Given the description of an element on the screen output the (x, y) to click on. 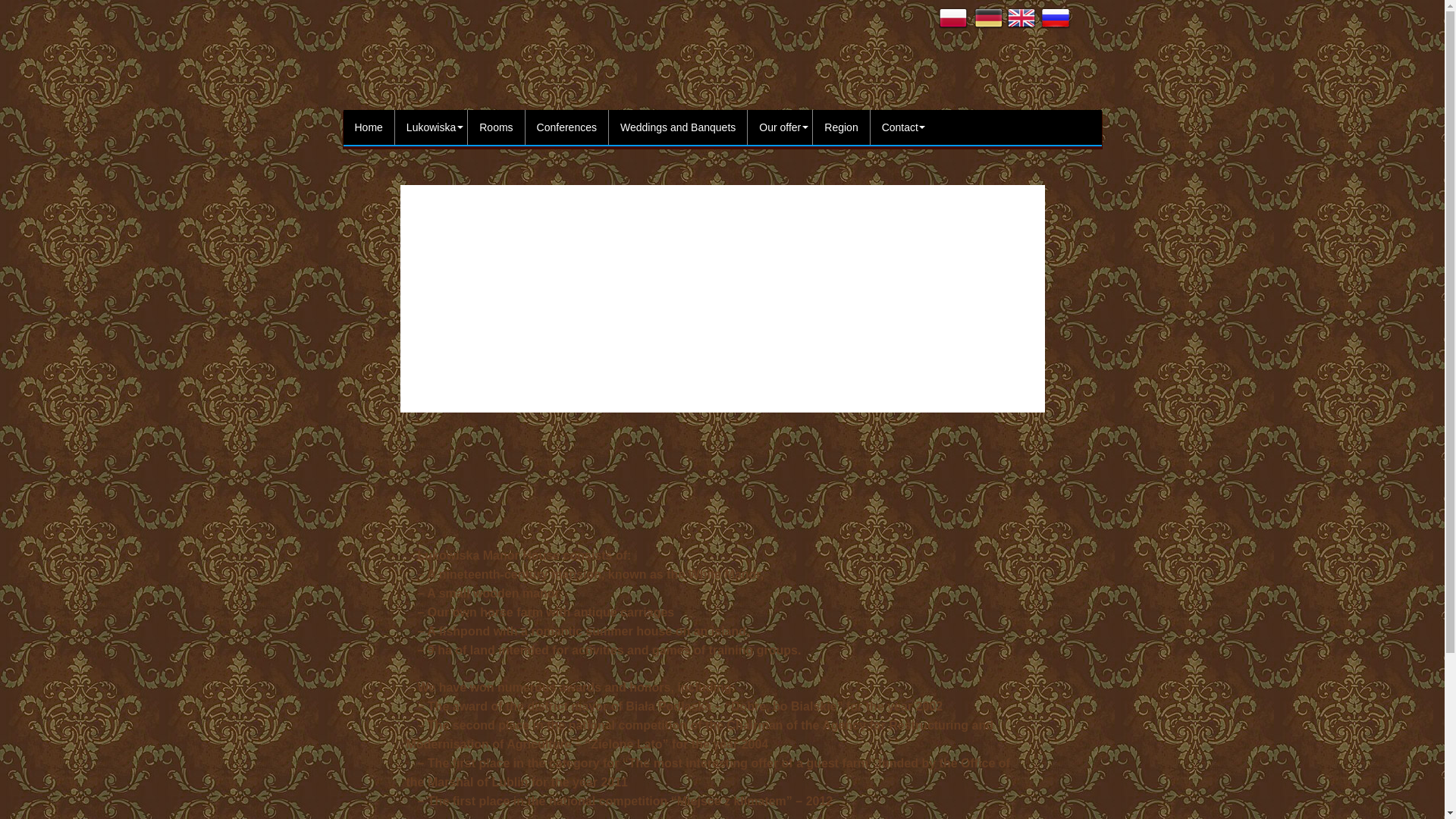
Rooms (495, 126)
Conferences (566, 126)
Our offer (780, 126)
Contact (900, 126)
Home (368, 126)
Lukowiska (430, 126)
Weddings and Banquets (678, 126)
Menu1 (368, 126)
Region (840, 126)
